Given the description of an element on the screen output the (x, y) to click on. 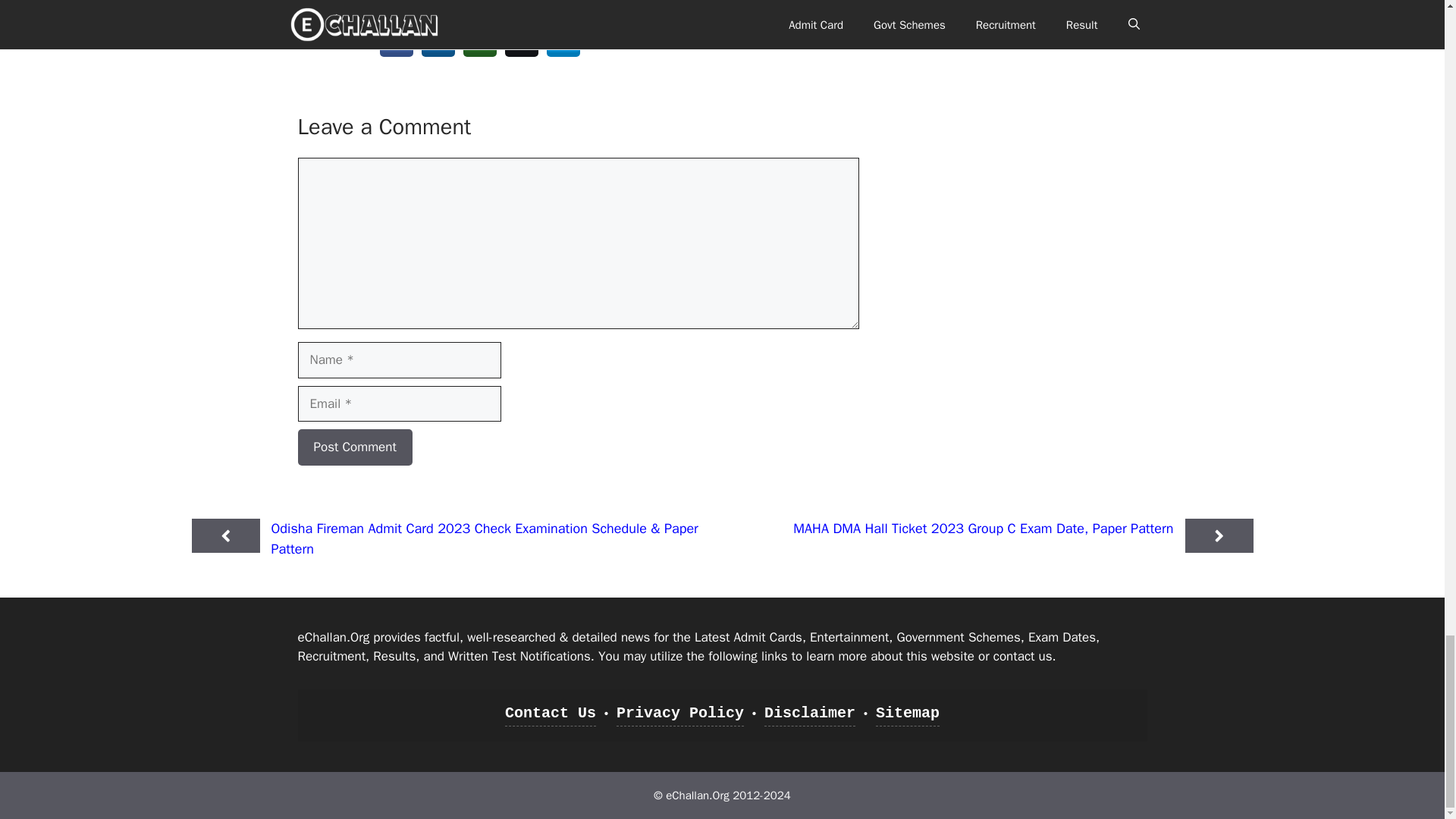
Contact Us (550, 715)
Disclaimer (810, 715)
Post Comment (354, 447)
Post Comment (354, 447)
Privacy Policy (679, 715)
MAHA DMA Hall Ticket 2023 Group C Exam Date, Paper Pattern (983, 528)
Sitemap (907, 715)
